Given the description of an element on the screen output the (x, y) to click on. 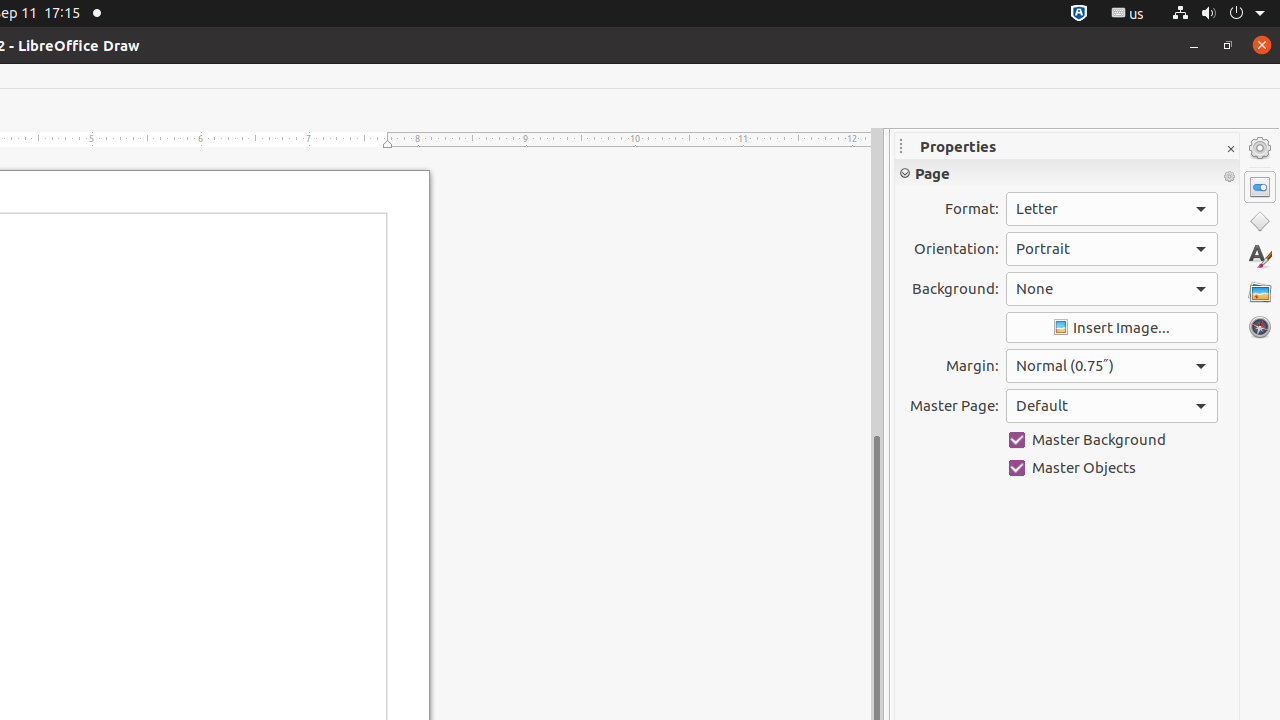
Master Background Element type: check-box (1112, 440)
Shapes Element type: radio-button (1260, 222)
Close Sidebar Deck Element type: push-button (1230, 149)
Properties Element type: radio-button (1260, 187)
Styles Element type: radio-button (1260, 256)
